Given the description of an element on the screen output the (x, y) to click on. 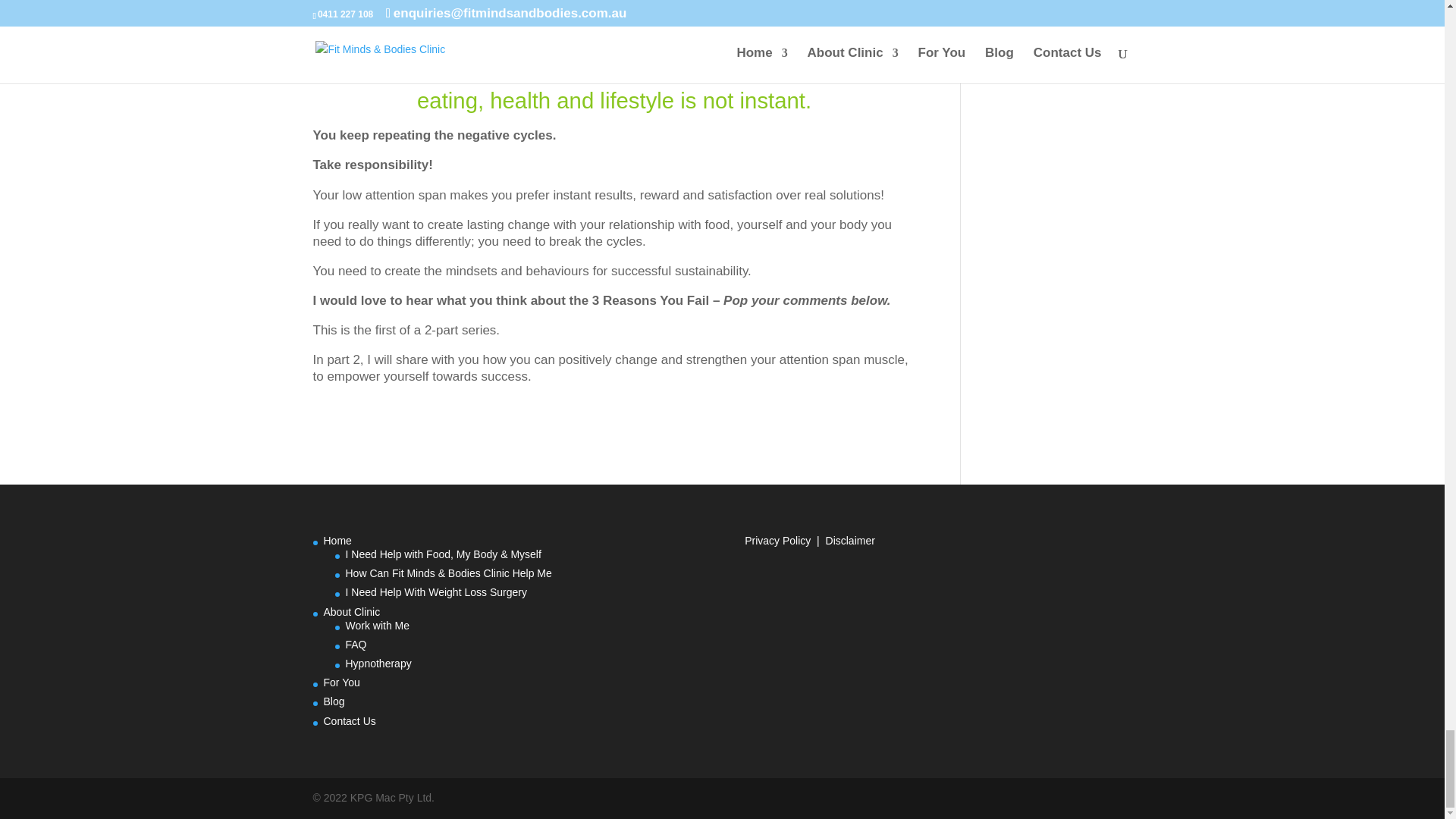
For You (341, 682)
Home (336, 540)
Hypnotherapy (379, 663)
I Need Help With Weight Loss Surgery (436, 592)
About Clinic (351, 611)
Work with Me (378, 625)
FAQ (356, 644)
